Given the description of an element on the screen output the (x, y) to click on. 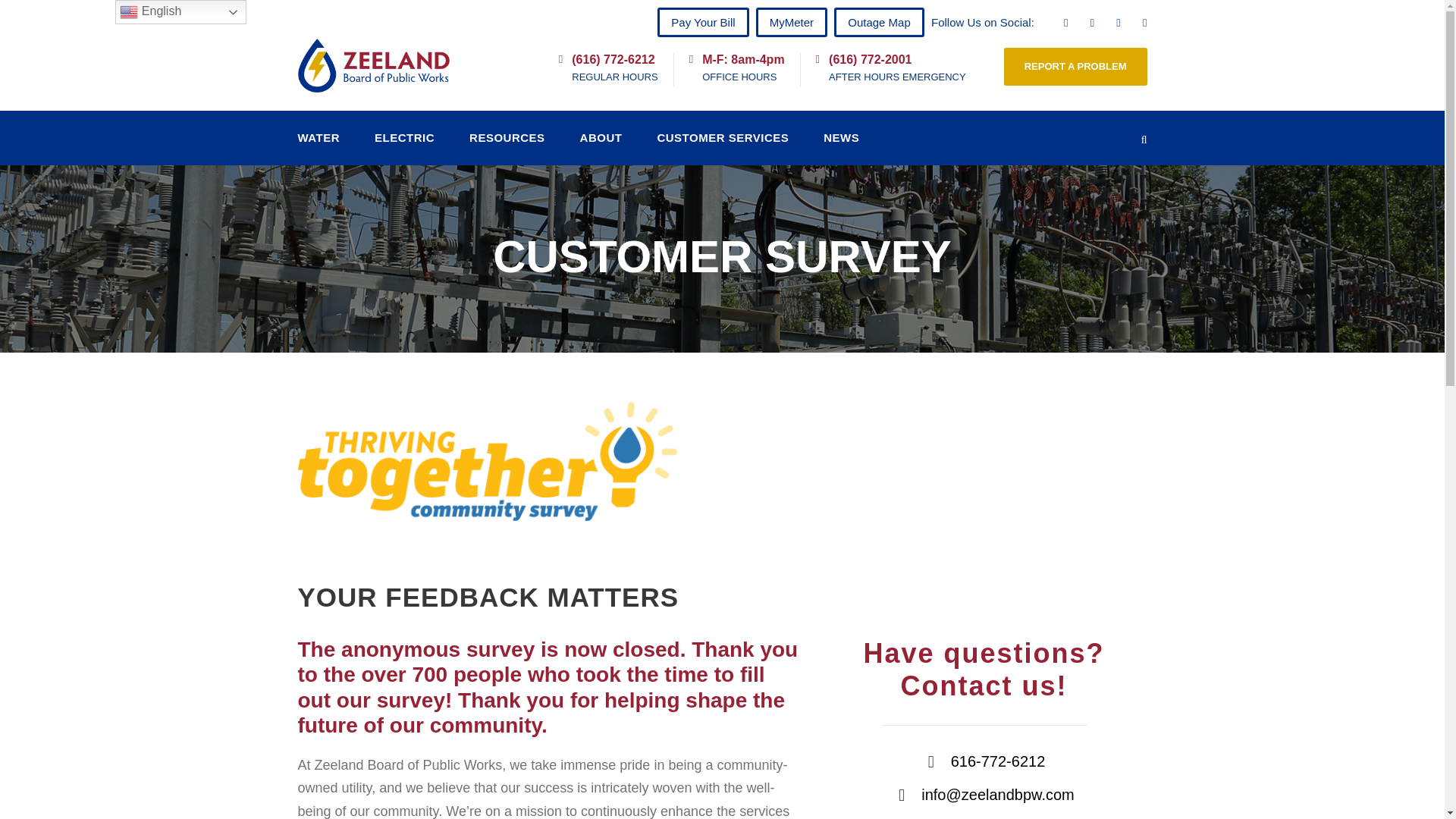
Pay Your Bill (703, 21)
RESOURCES (506, 146)
ELECTRIC (403, 146)
REPORT A PROBLEM (1075, 66)
WATER (318, 146)
Outage Map (879, 21)
MyMeter (791, 21)
zeelandbpw-logo (372, 65)
